Given the description of an element on the screen output the (x, y) to click on. 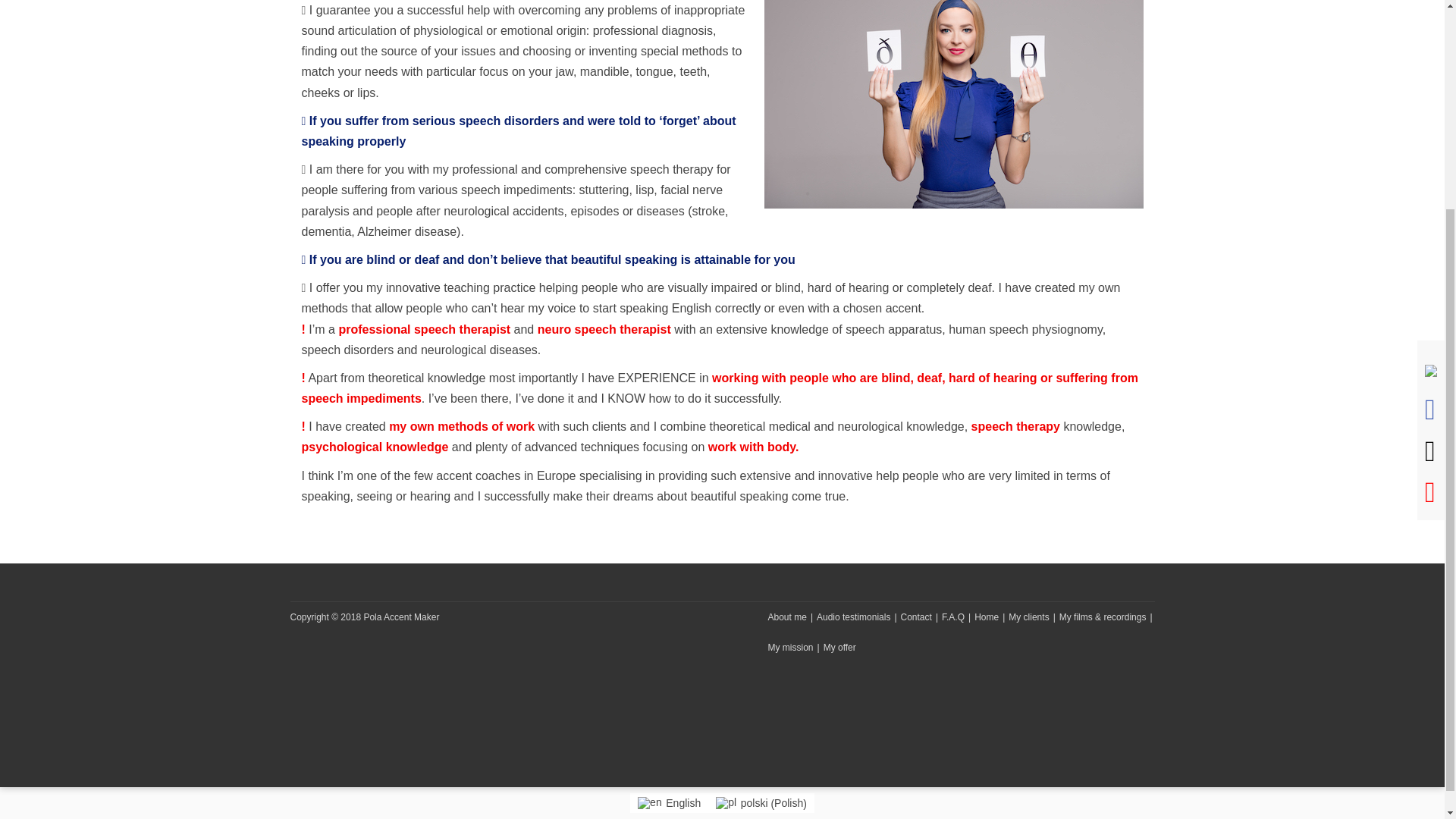
F.A.Q (952, 616)
My clients (1028, 616)
Contact (916, 616)
polski (726, 802)
My mission (789, 647)
My offer (840, 647)
Audio testimonials (852, 616)
English (668, 803)
English (649, 802)
About me (786, 616)
